Given the description of an element on the screen output the (x, y) to click on. 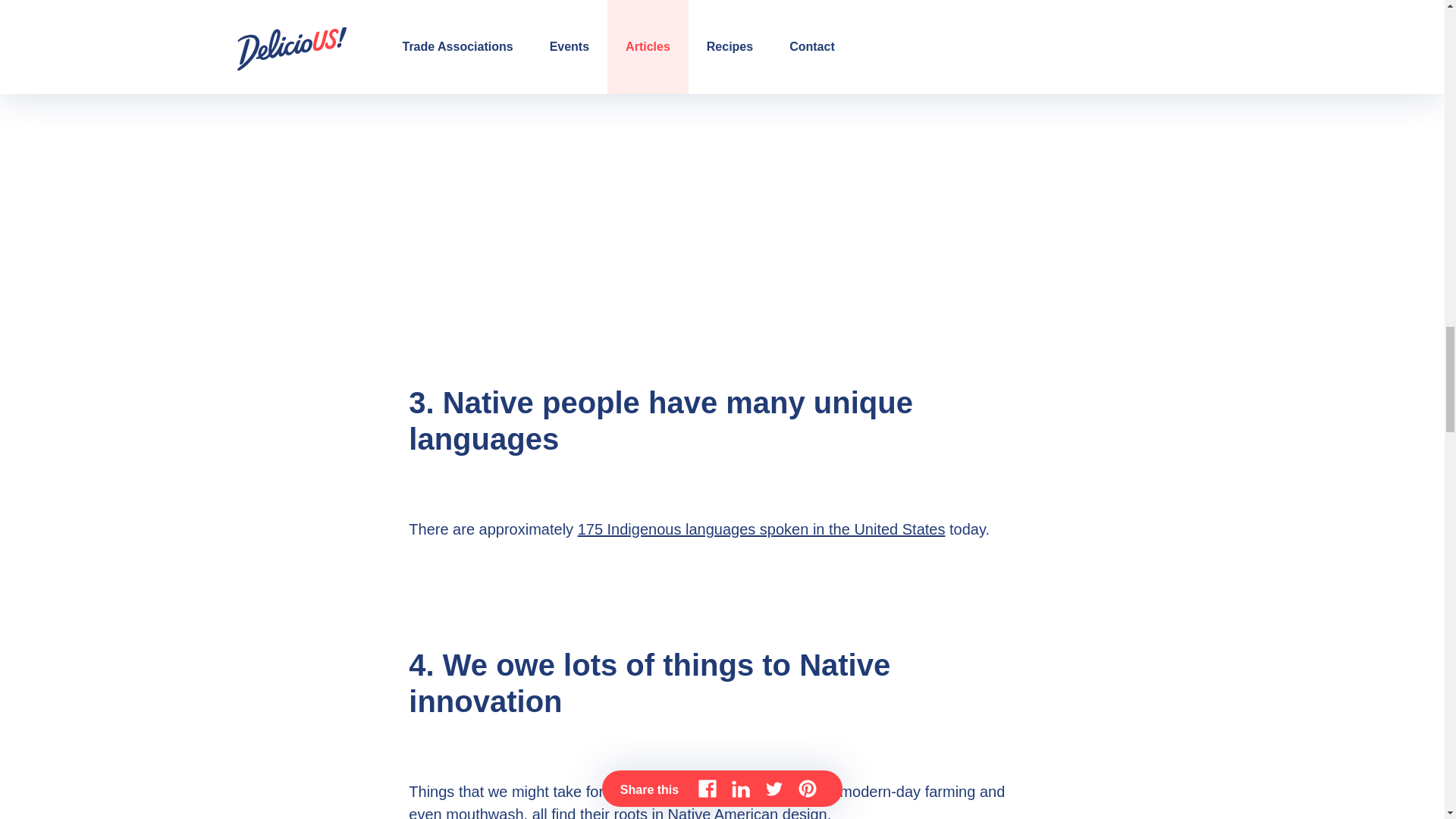
175 Indigenous languages spoken in the United States (761, 528)
all find their roots in Native American design (679, 812)
